Given the description of an element on the screen output the (x, y) to click on. 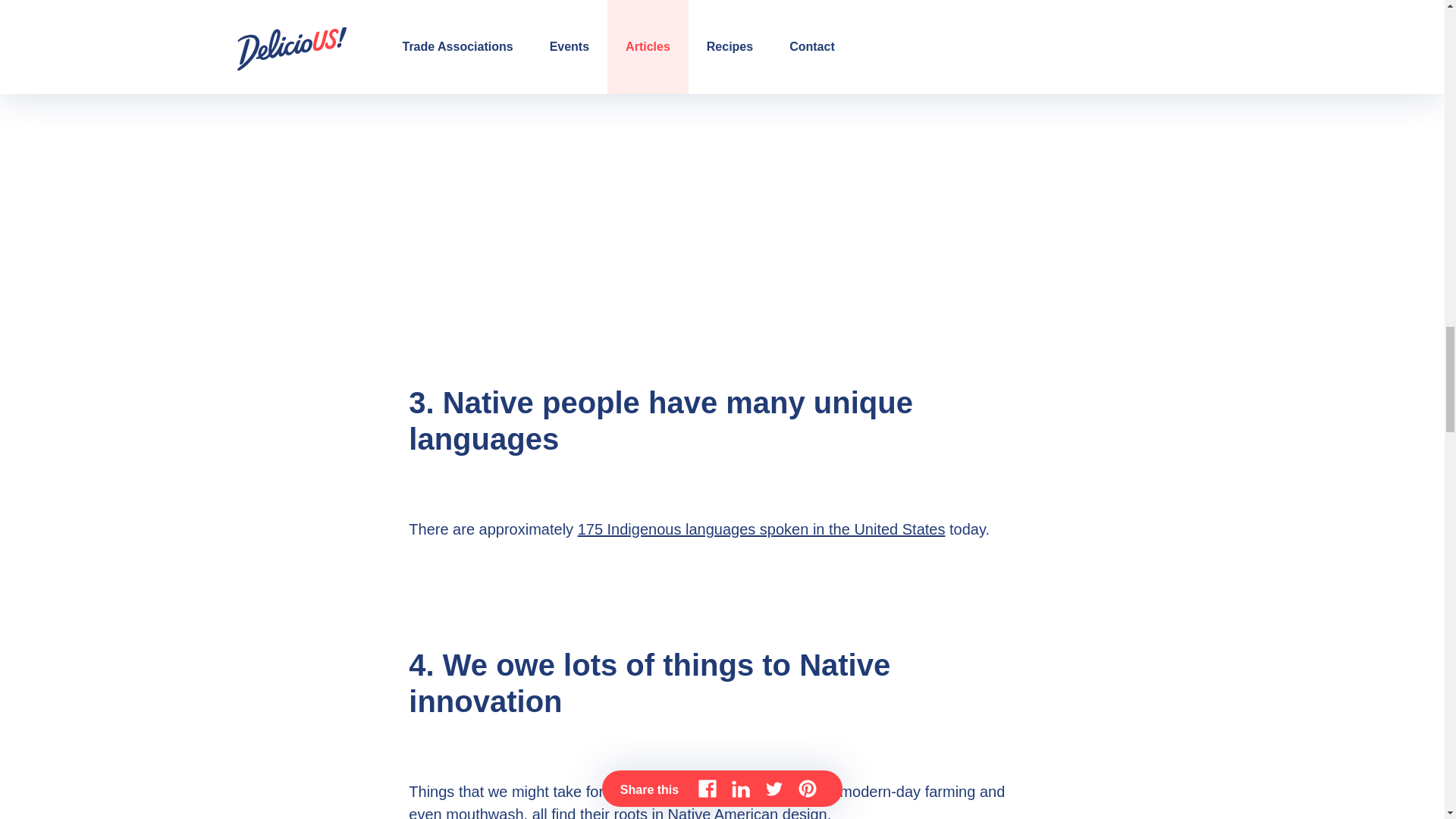
175 Indigenous languages spoken in the United States (761, 528)
all find their roots in Native American design (679, 812)
